Given the description of an element on the screen output the (x, y) to click on. 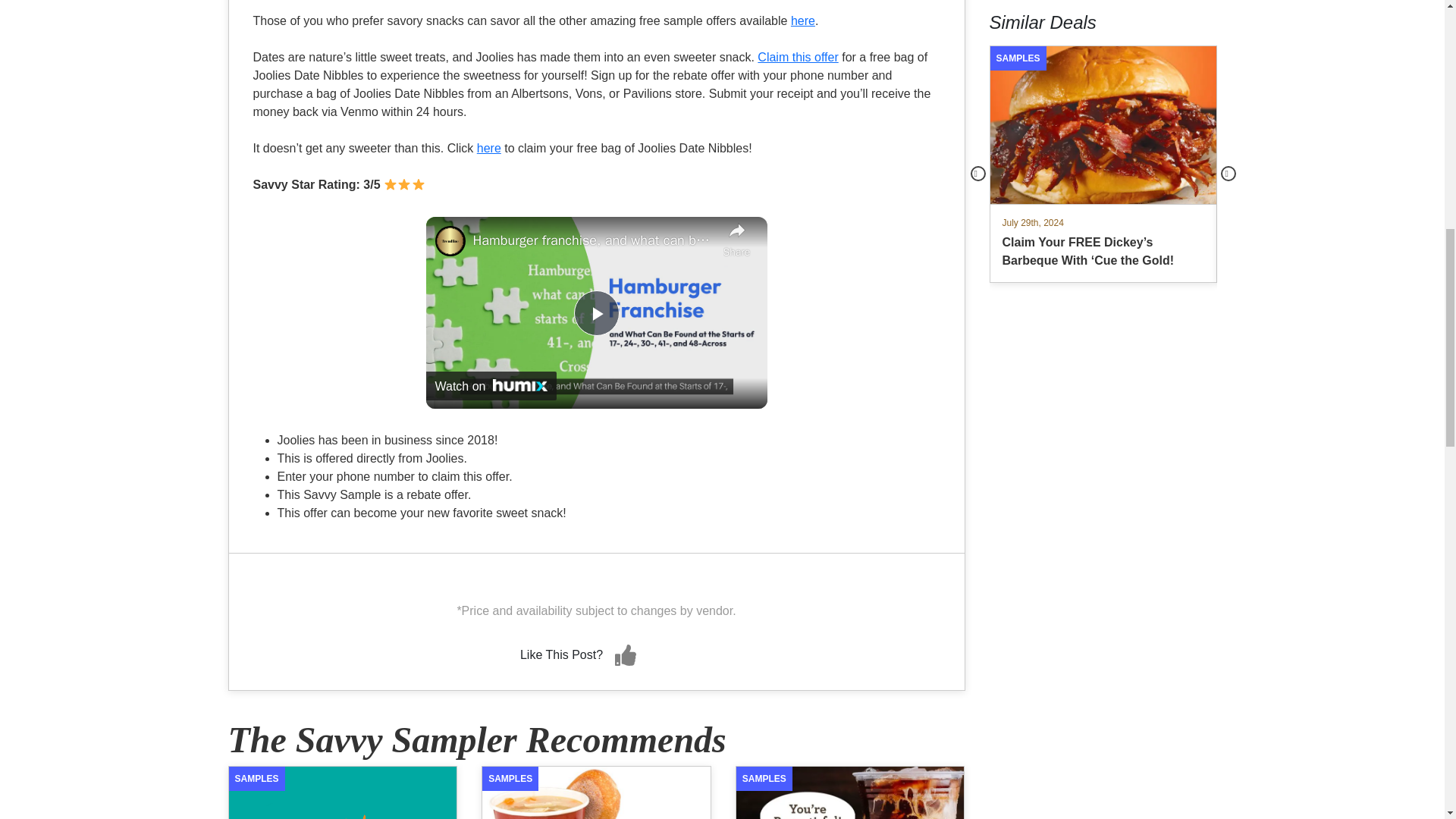
here (488, 147)
Play Video (595, 312)
Claim this offer (797, 56)
here (802, 20)
Play Video (595, 312)
Watch on (491, 385)
